Given the description of an element on the screen output the (x, y) to click on. 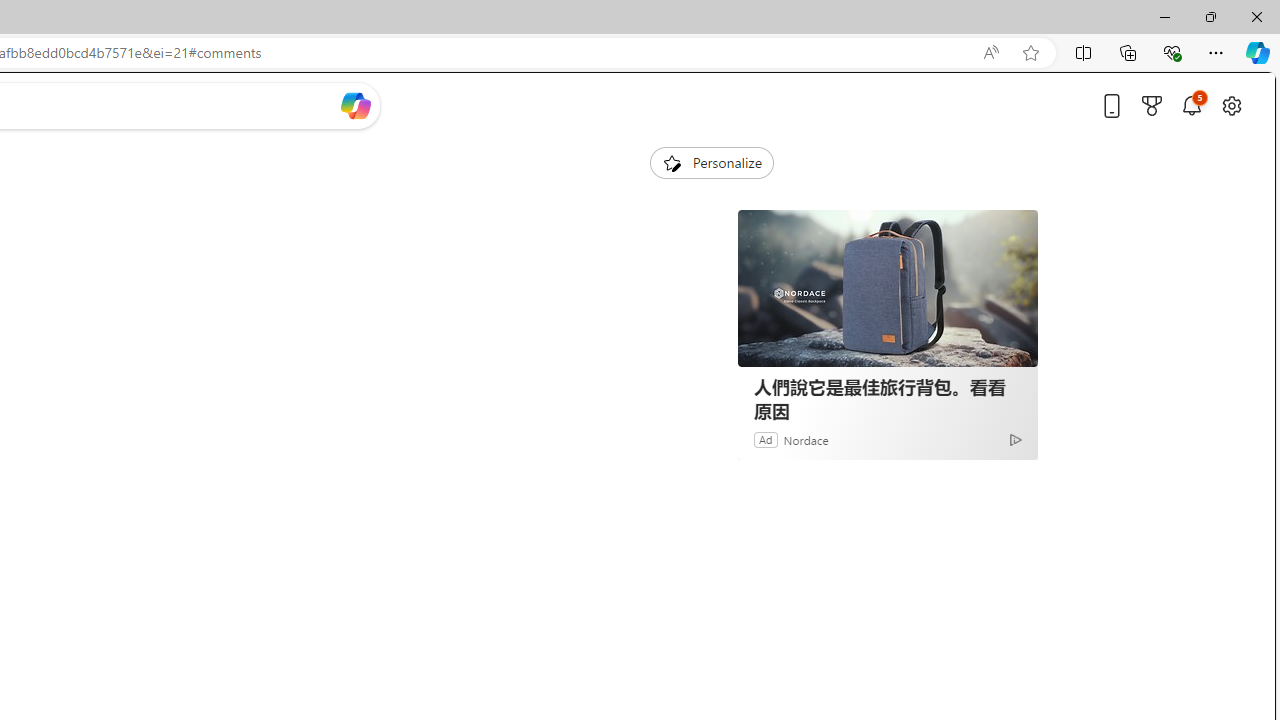
To get missing image descriptions, open the context menu. (671, 162)
